Given the description of an element on the screen output the (x, y) to click on. 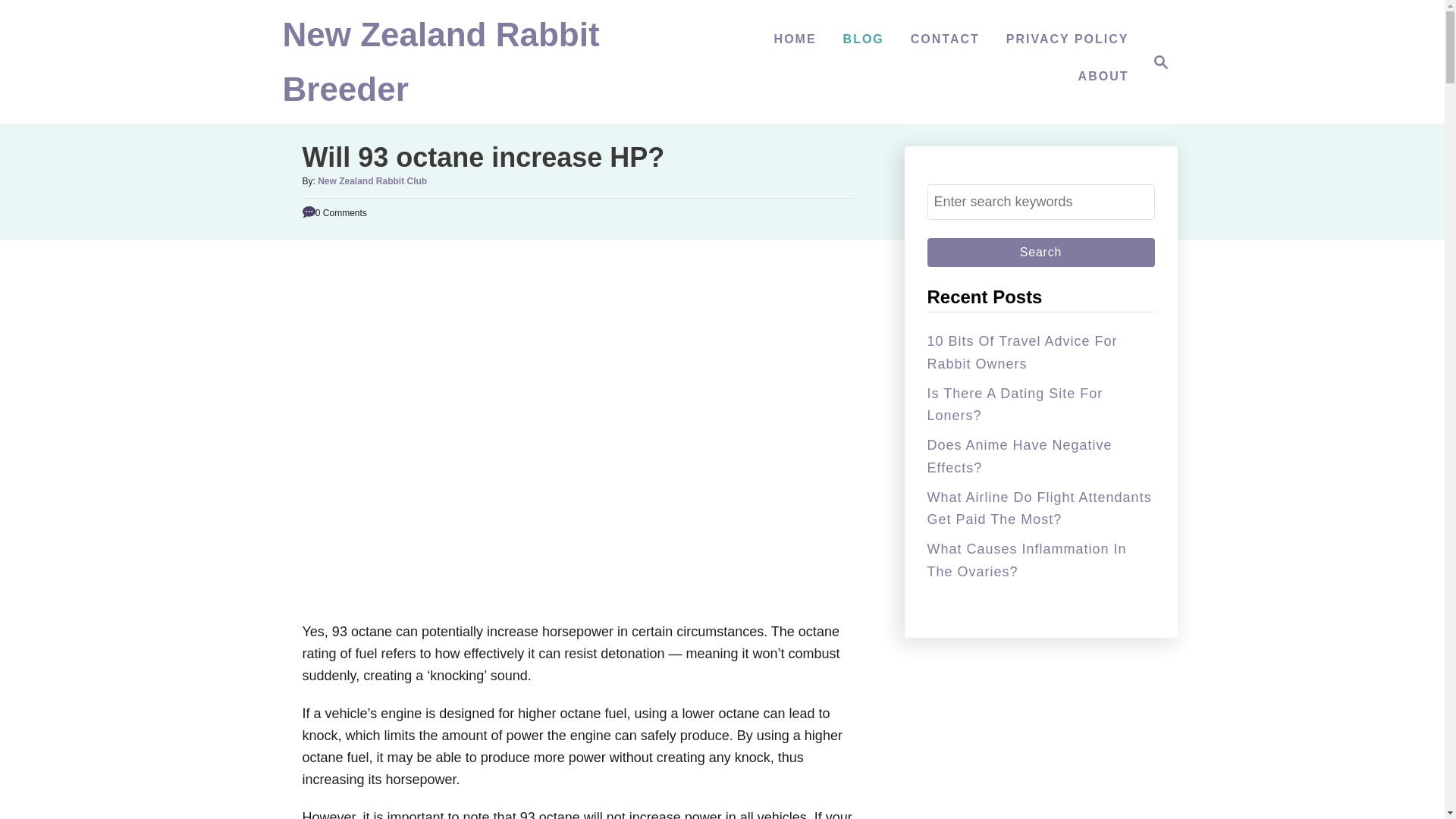
Search (1040, 252)
HOME (795, 39)
New Zealand Rabbit Breeder (1155, 61)
Is There A Dating Site For Loners? (440, 69)
BLOG (1014, 404)
10 Bits Of Travel Advice For Rabbit Owners (863, 39)
YouTube player (1021, 352)
Search (1103, 76)
